Given the description of an element on the screen output the (x, y) to click on. 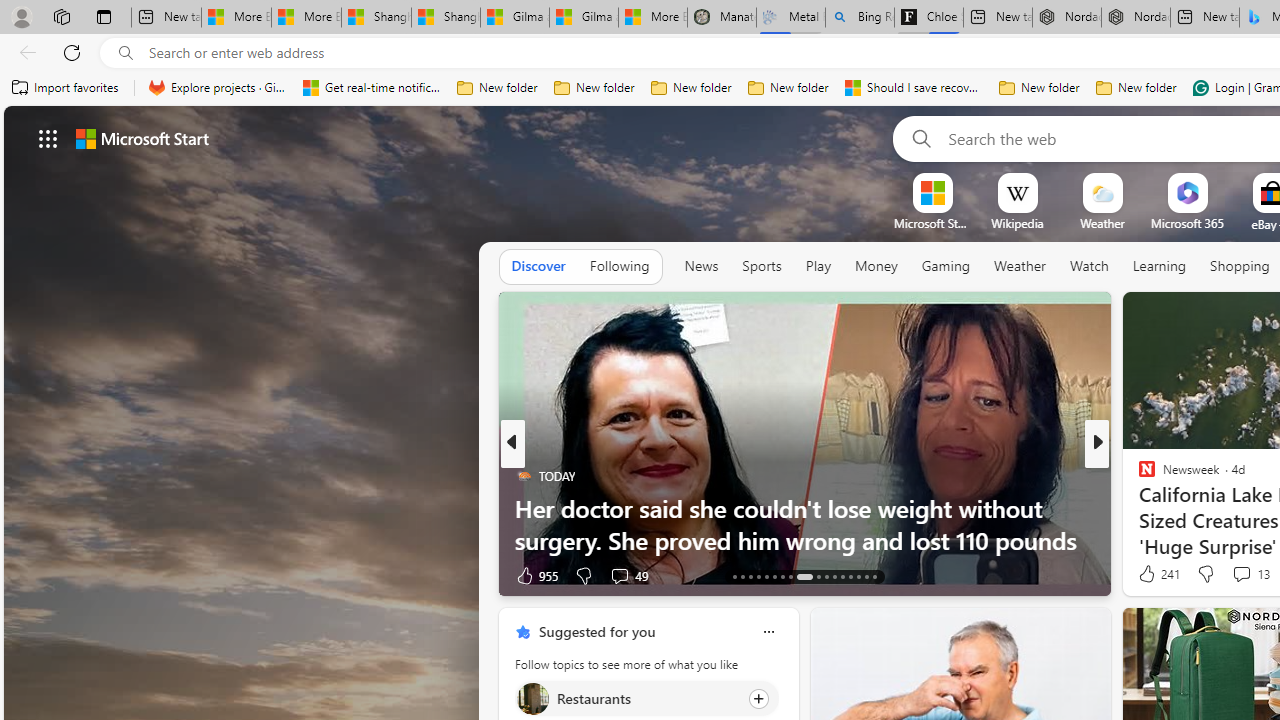
Learning (1159, 265)
View comments 18 Comment (1234, 575)
CBS News (Video) (1138, 475)
AutomationID: tab-13 (733, 576)
Money (876, 267)
AutomationID: tab-15 (750, 576)
AutomationID: tab-22 (818, 576)
Watch (1089, 265)
AutomationID: tab-20 (789, 576)
AutomationID: tab-21 (804, 576)
955 Like (535, 574)
View comments 22 Comment (1234, 575)
